Given the description of an element on the screen output the (x, y) to click on. 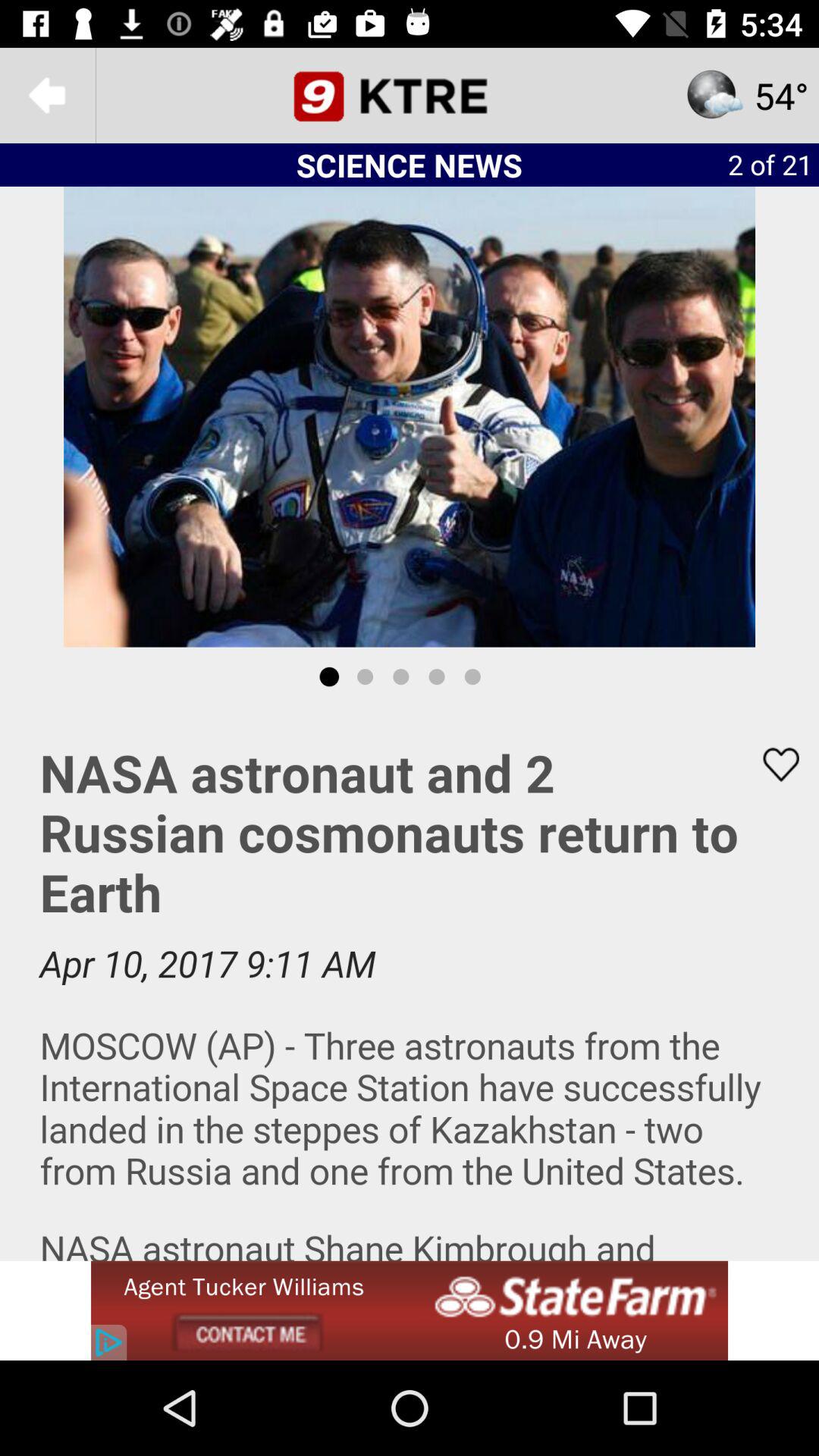
title image page (409, 95)
